Given the description of an element on the screen output the (x, y) to click on. 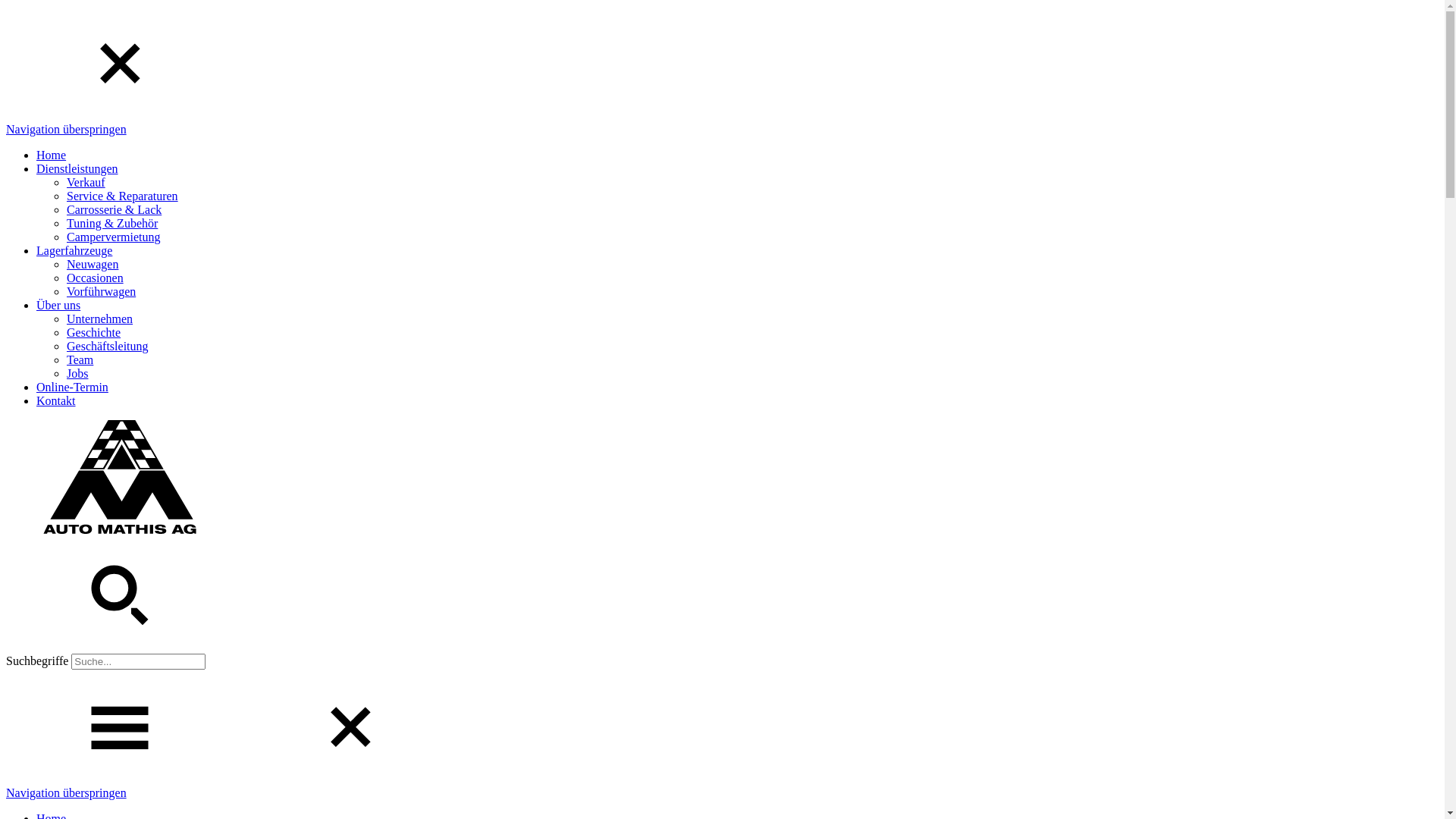
Team Element type: text (79, 359)
Carrosserie & Lack Element type: text (113, 209)
Home Element type: text (50, 154)
Auto Mathis AG Element type: hover (119, 529)
Kontakt Element type: text (55, 400)
Occasionen Element type: text (94, 277)
Campervermietung Element type: text (113, 236)
Lagerfahrzeuge Element type: text (74, 250)
Dienstleistungen Element type: text (77, 168)
Service & Reparaturen Element type: text (122, 195)
Unternehmen Element type: text (99, 318)
Geschichte Element type: text (93, 332)
Online-Termin Element type: text (72, 386)
Jobs Element type: text (76, 373)
Neuwagen Element type: text (92, 263)
Verkauf Element type: text (85, 181)
